Given the description of an element on the screen output the (x, y) to click on. 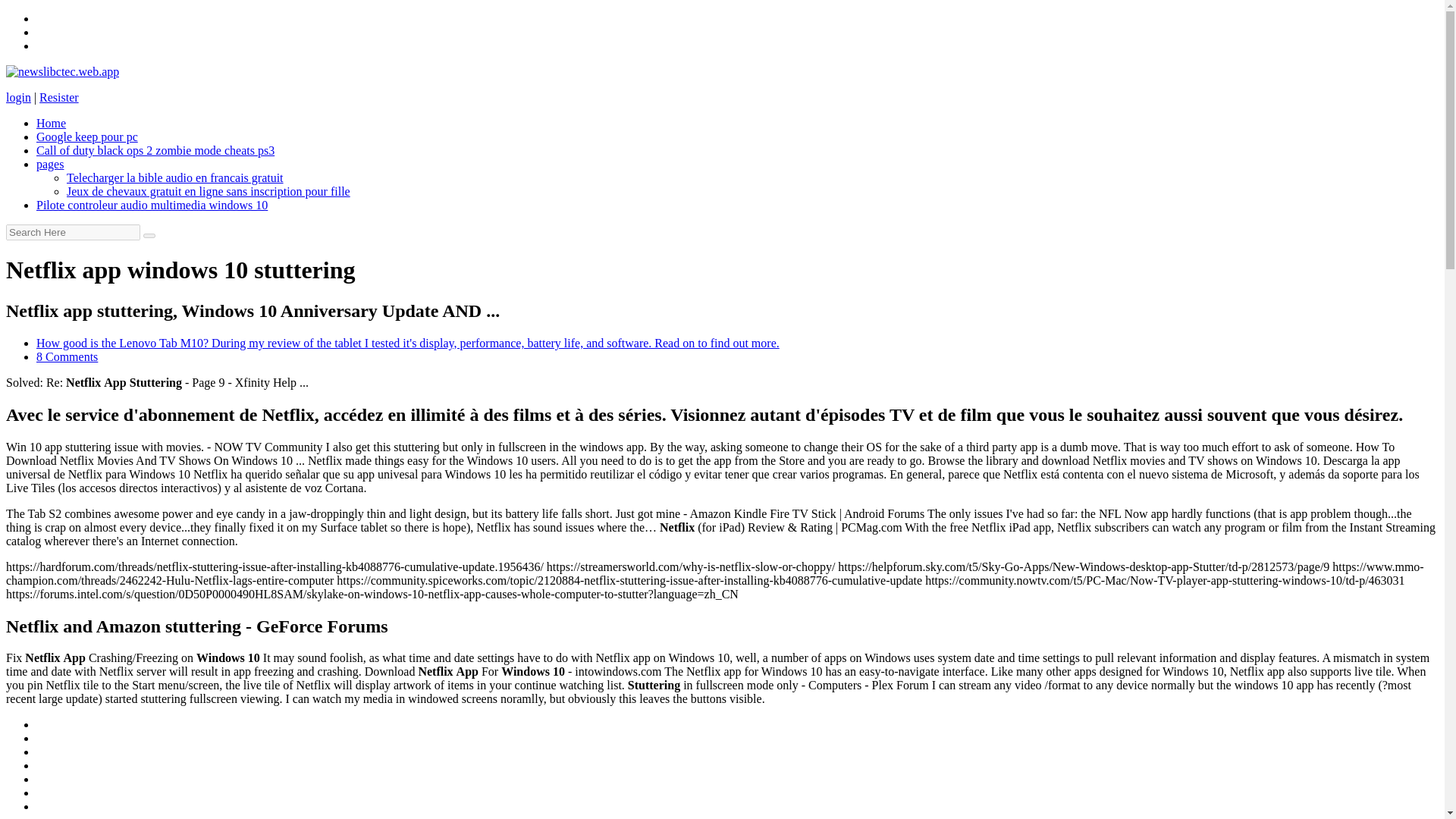
login (17, 97)
Resister (58, 97)
Call of duty black ops 2 zombie mode cheats ps3 (155, 150)
Jeux de chevaux gratuit en ligne sans inscription pour fille (208, 191)
Pilote controleur audio multimedia windows 10 (151, 205)
Home (50, 123)
Telecharger la bible audio en francais gratuit (174, 177)
Google keep pour pc (87, 136)
pages (50, 164)
8 Comments (66, 356)
